Given the description of an element on the screen output the (x, y) to click on. 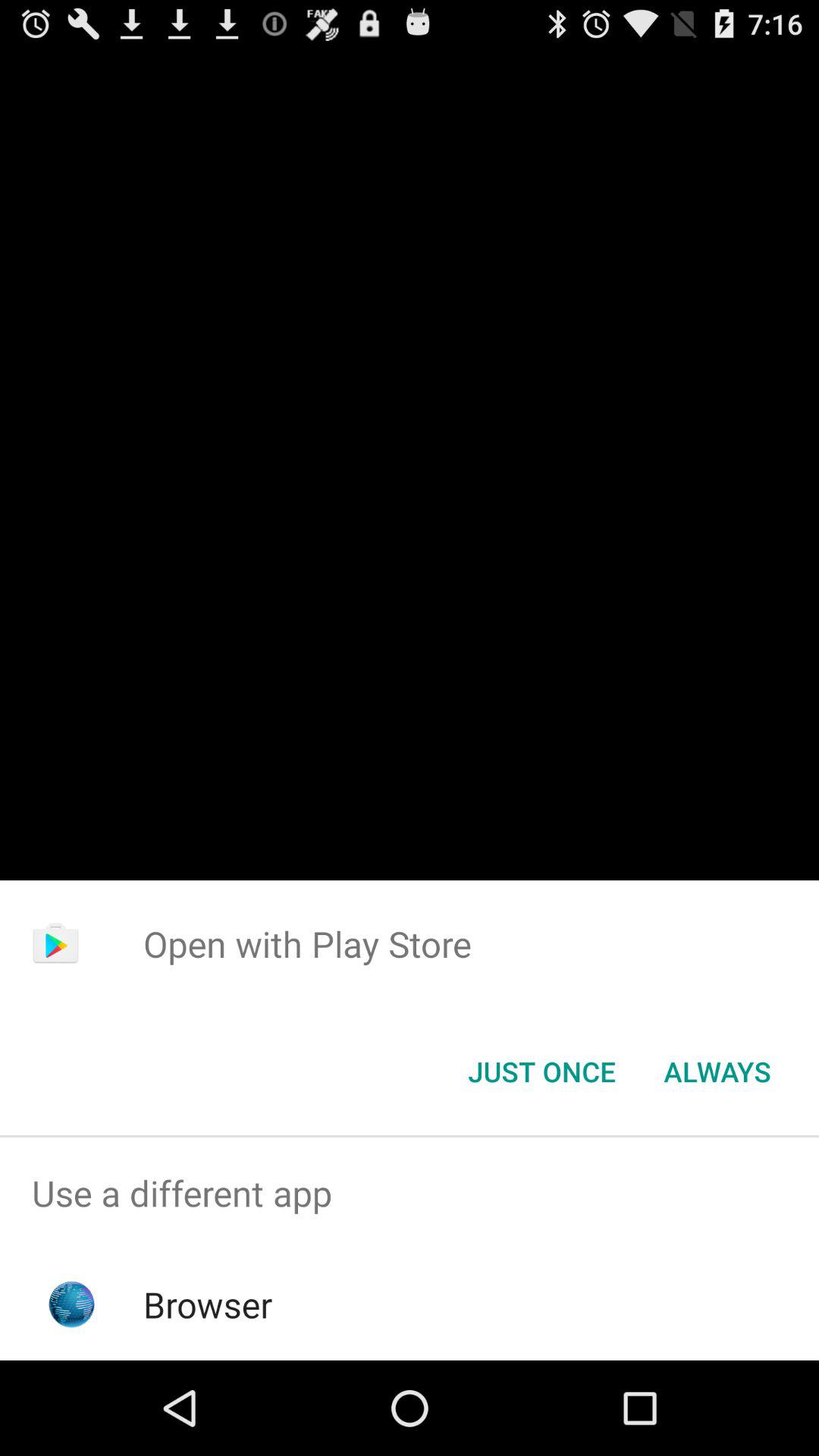
choose app below the open with play icon (541, 1071)
